Given the description of an element on the screen output the (x, y) to click on. 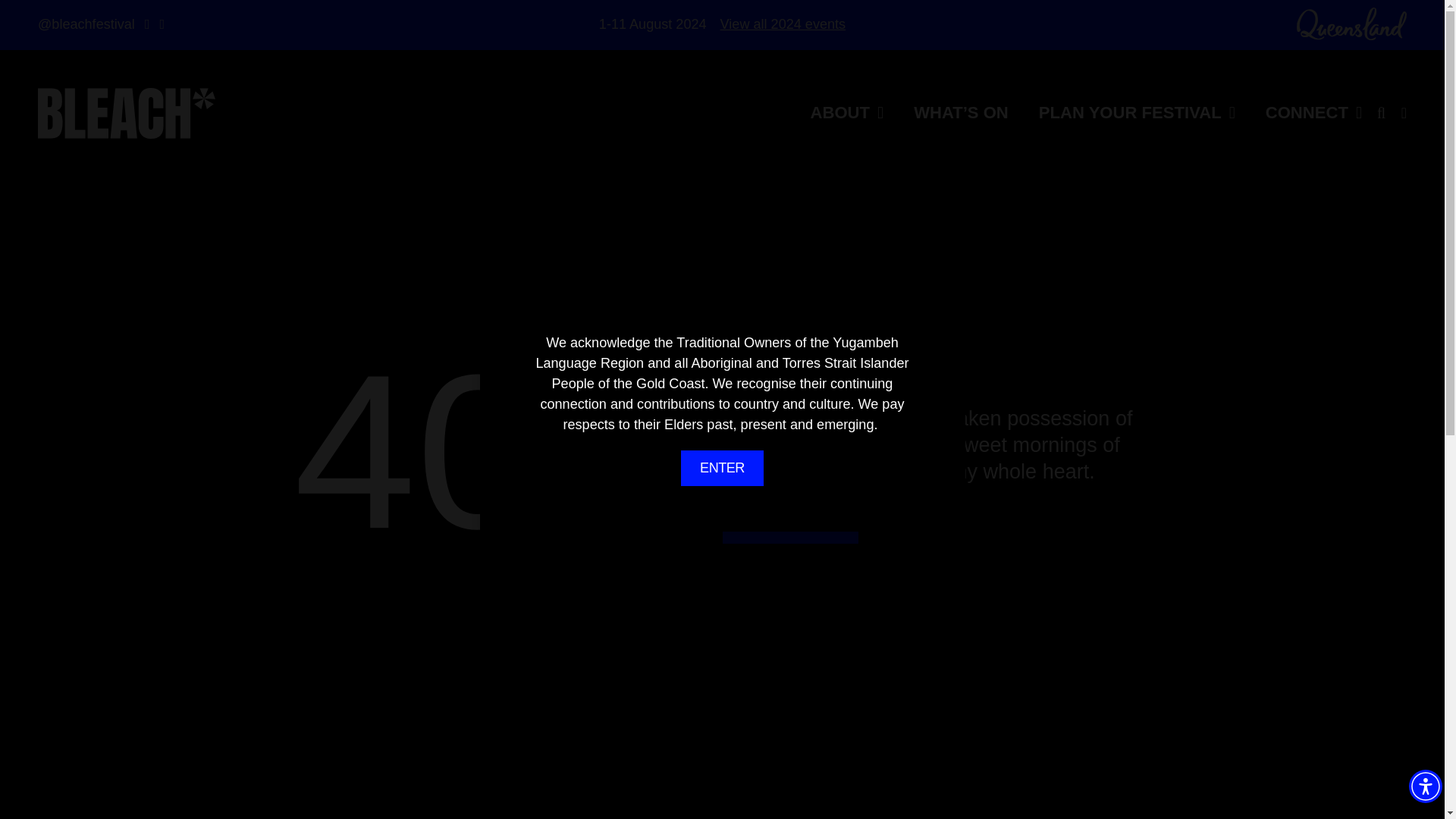
PLAN YOUR FESTIVAL (1136, 112)
Accessibility Menu (1425, 786)
ABOUT (846, 112)
CONNECT (1313, 112)
View all 2024 events (782, 23)
